Given the description of an element on the screen output the (x, y) to click on. 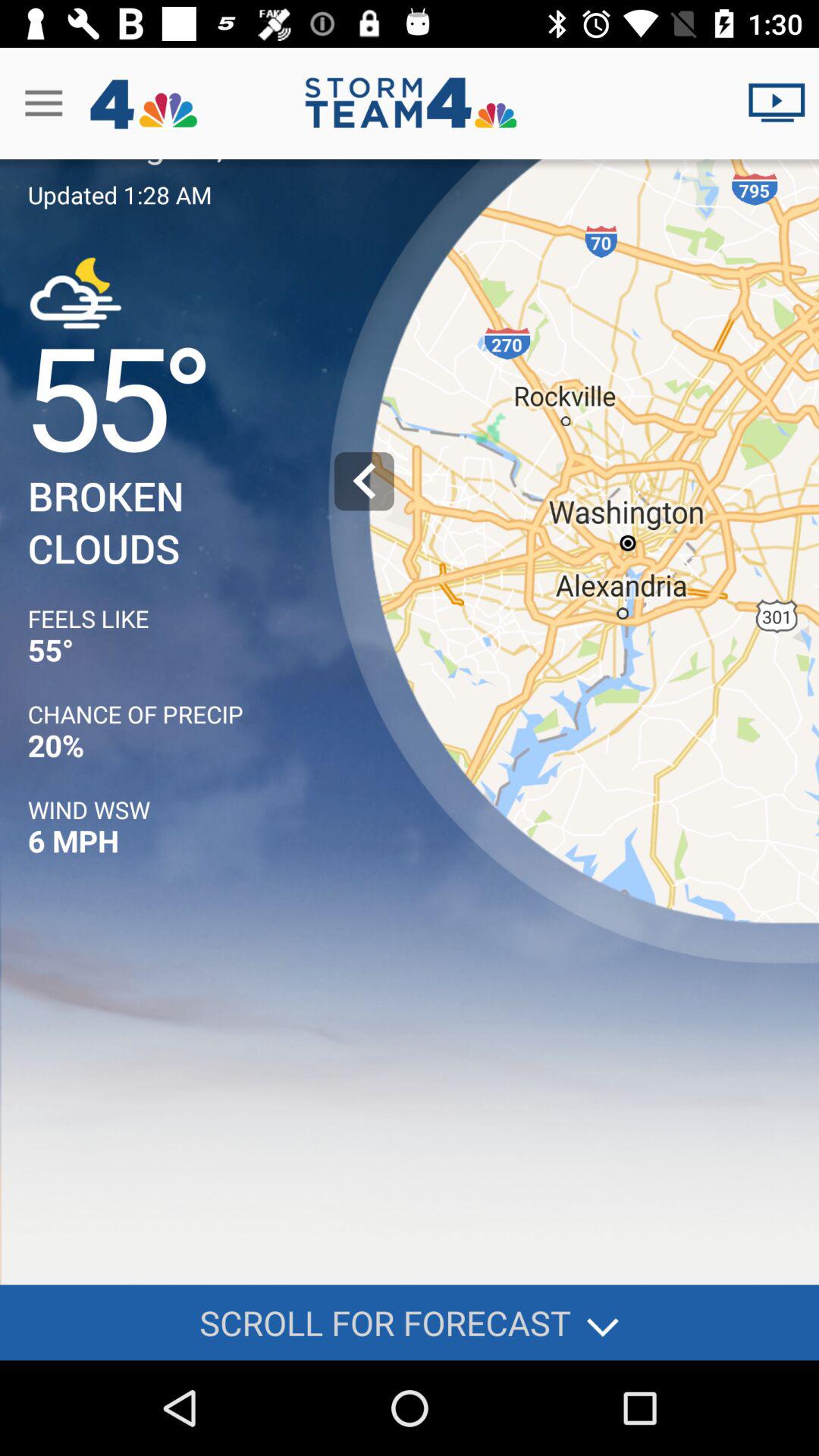
click the logo next to menu icon (143, 103)
